Given the description of an element on the screen output the (x, y) to click on. 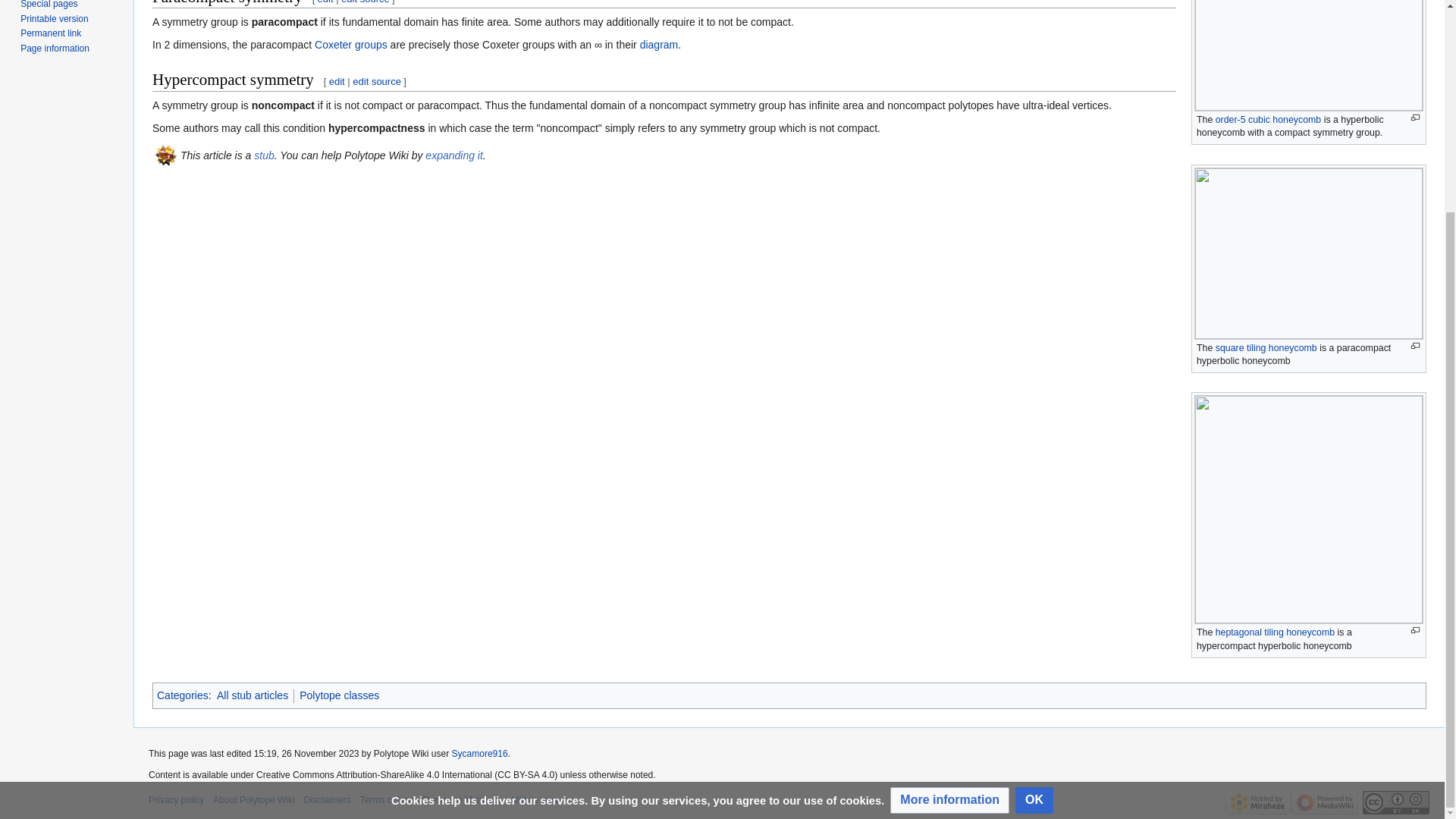
OK (1033, 524)
edit (337, 81)
Heptagonal tiling honeycomb (1275, 632)
Coxeter group (350, 44)
Edit section: Hypercompact symmetry (337, 81)
diagram (659, 44)
Edit section's source code: Hypercompact symmetry (376, 81)
order-5 cubic honeycomb (1267, 119)
Square tiling honeycomb (1266, 347)
edit (325, 2)
Polytope classes (338, 695)
Coxeter-Dynkin diagram (659, 44)
edit source (376, 81)
stub (263, 155)
Coxeter groups (350, 44)
